Given the description of an element on the screen output the (x, y) to click on. 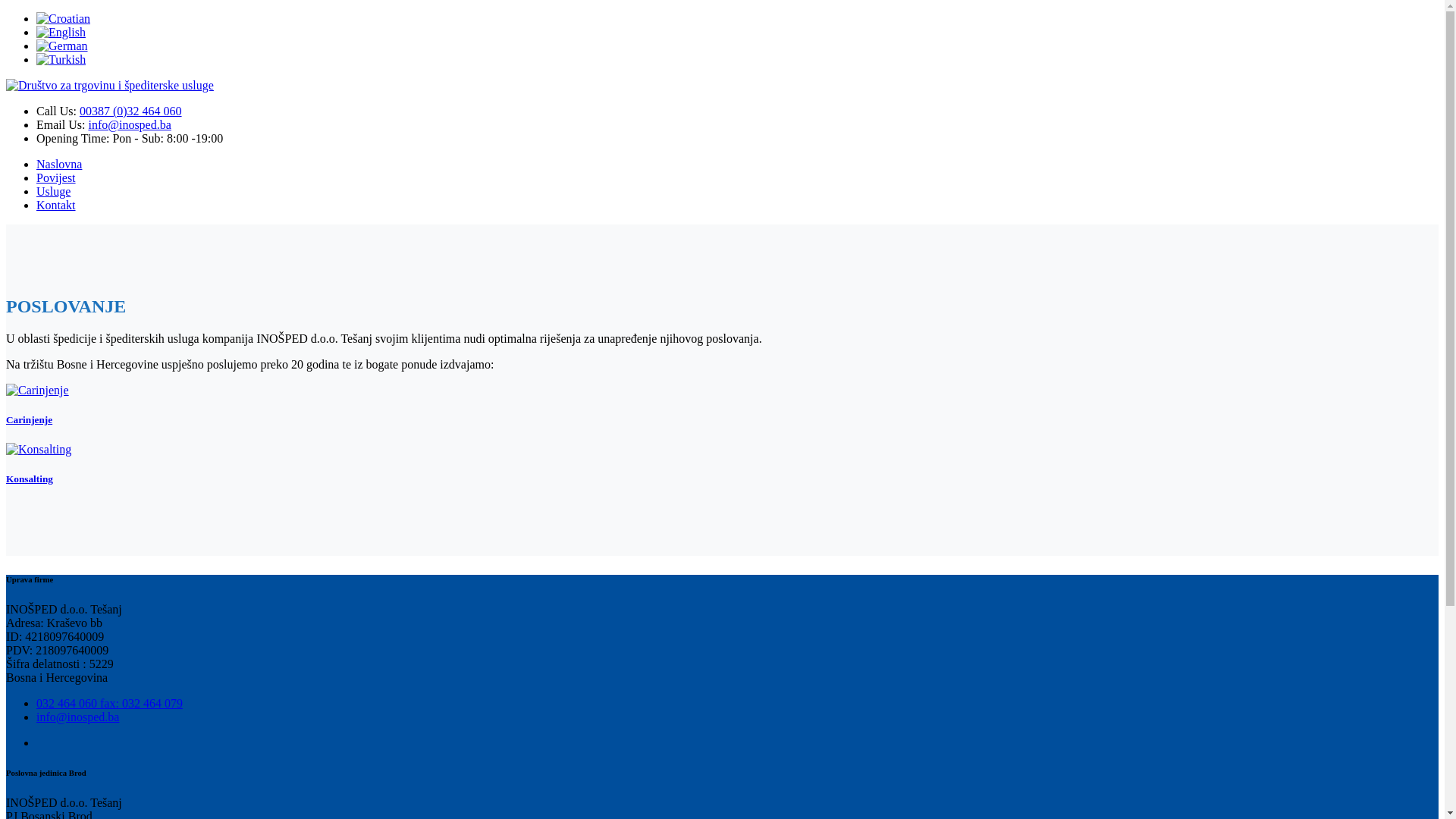
Kontakt Element type: text (55, 204)
info@inosped.ba Element type: text (128, 124)
Konsalting Element type: text (722, 463)
00387 (0)32 464 060 Element type: text (130, 110)
Naslovna Element type: text (58, 163)
Carinjenje Element type: hover (37, 390)
Usluge Element type: text (53, 191)
Croatian Element type: hover (63, 18)
German Element type: hover (61, 45)
Povijest Element type: text (55, 177)
Konsalting Element type: hover (38, 449)
Turkish Element type: hover (60, 59)
English Element type: hover (60, 31)
info@inosped.ba Element type: text (77, 715)
032 464 060 fax: 032 464 079 Element type: text (109, 702)
Carinjenje Element type: text (722, 404)
